Given the description of an element on the screen output the (x, y) to click on. 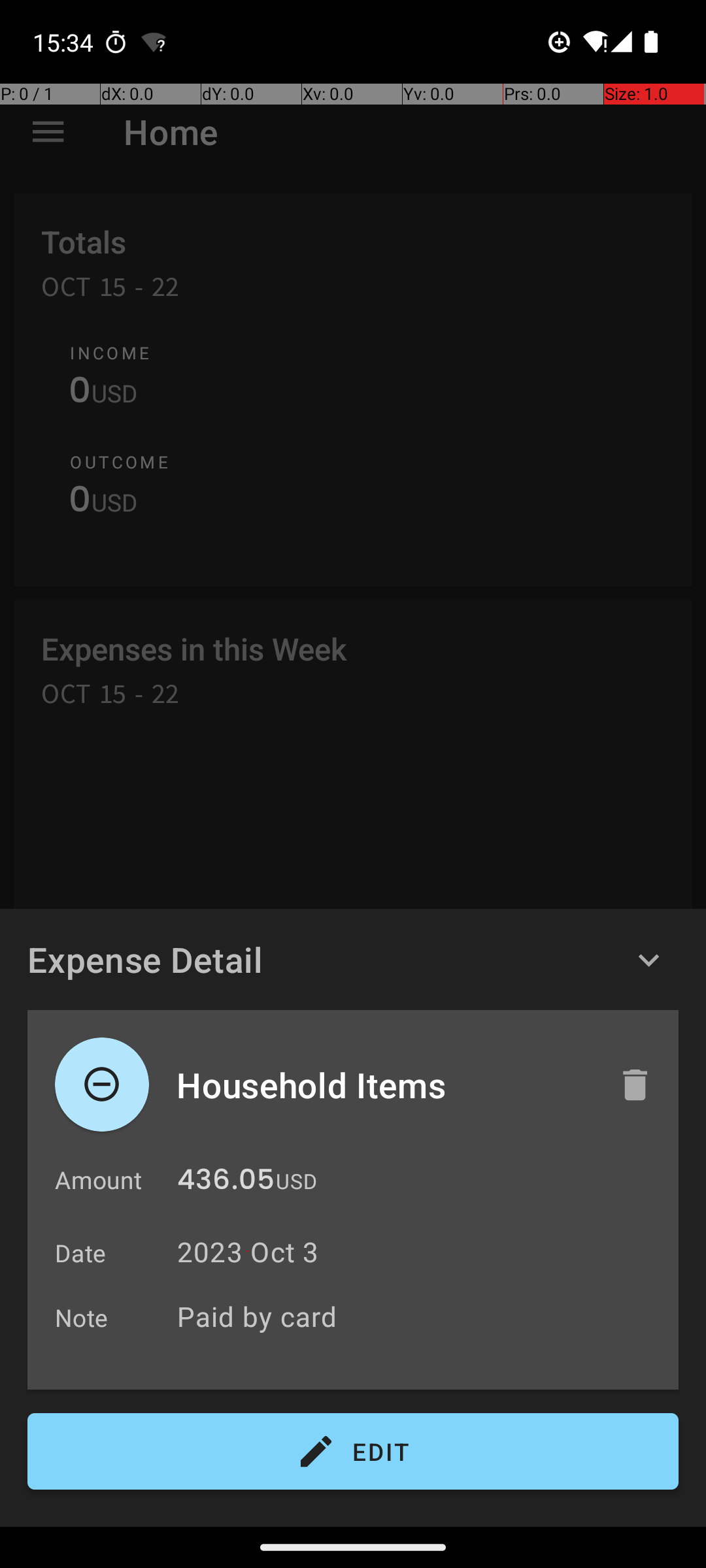
Household Items Element type: android.widget.TextView (383, 1084)
436.05 Element type: android.widget.TextView (225, 1182)
2023 Oct 3 Element type: android.widget.TextView (247, 1251)
